Given the description of an element on the screen output the (x, y) to click on. 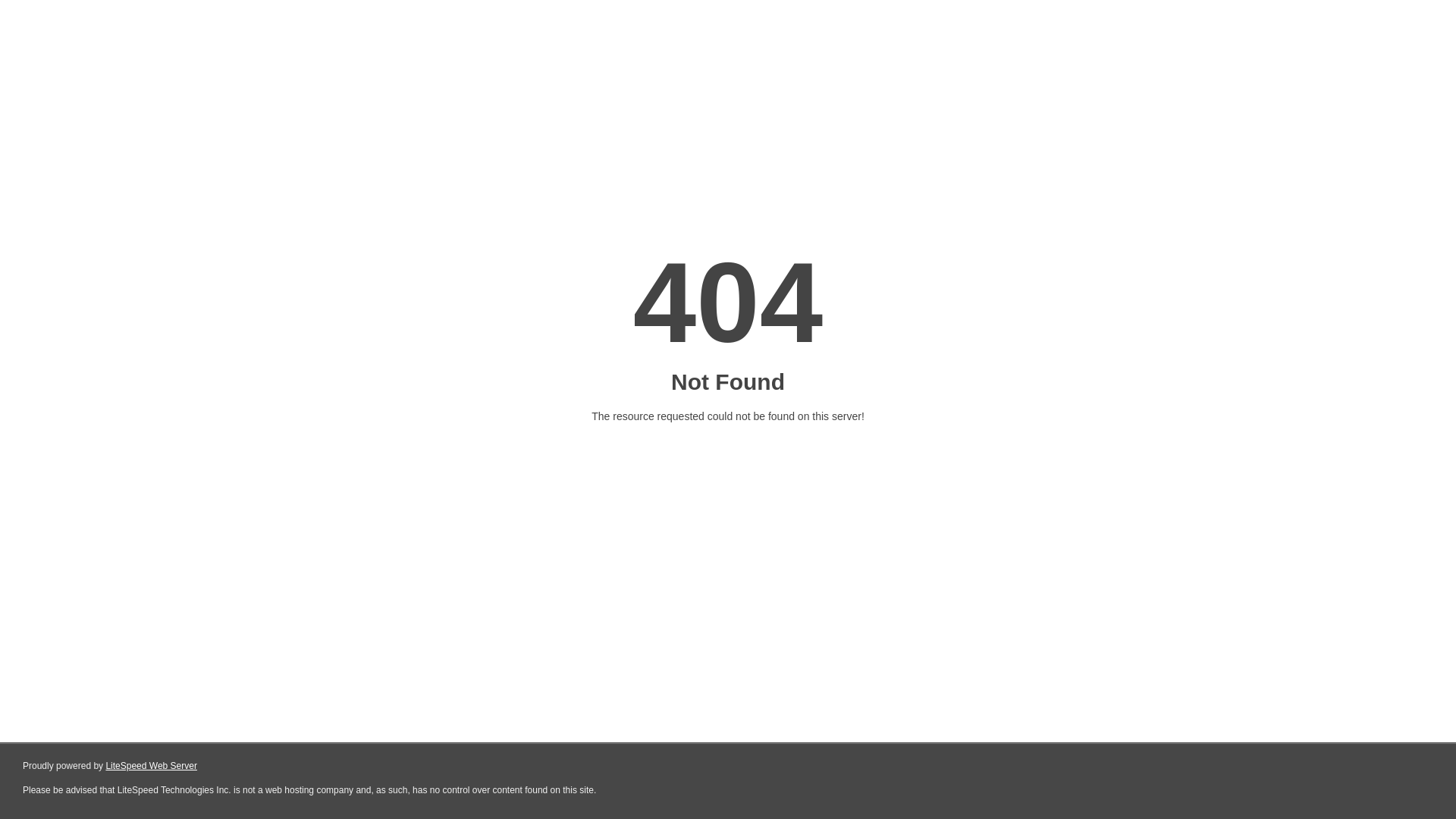
LiteSpeed Web Server Element type: text (151, 765)
